Given the description of an element on the screen output the (x, y) to click on. 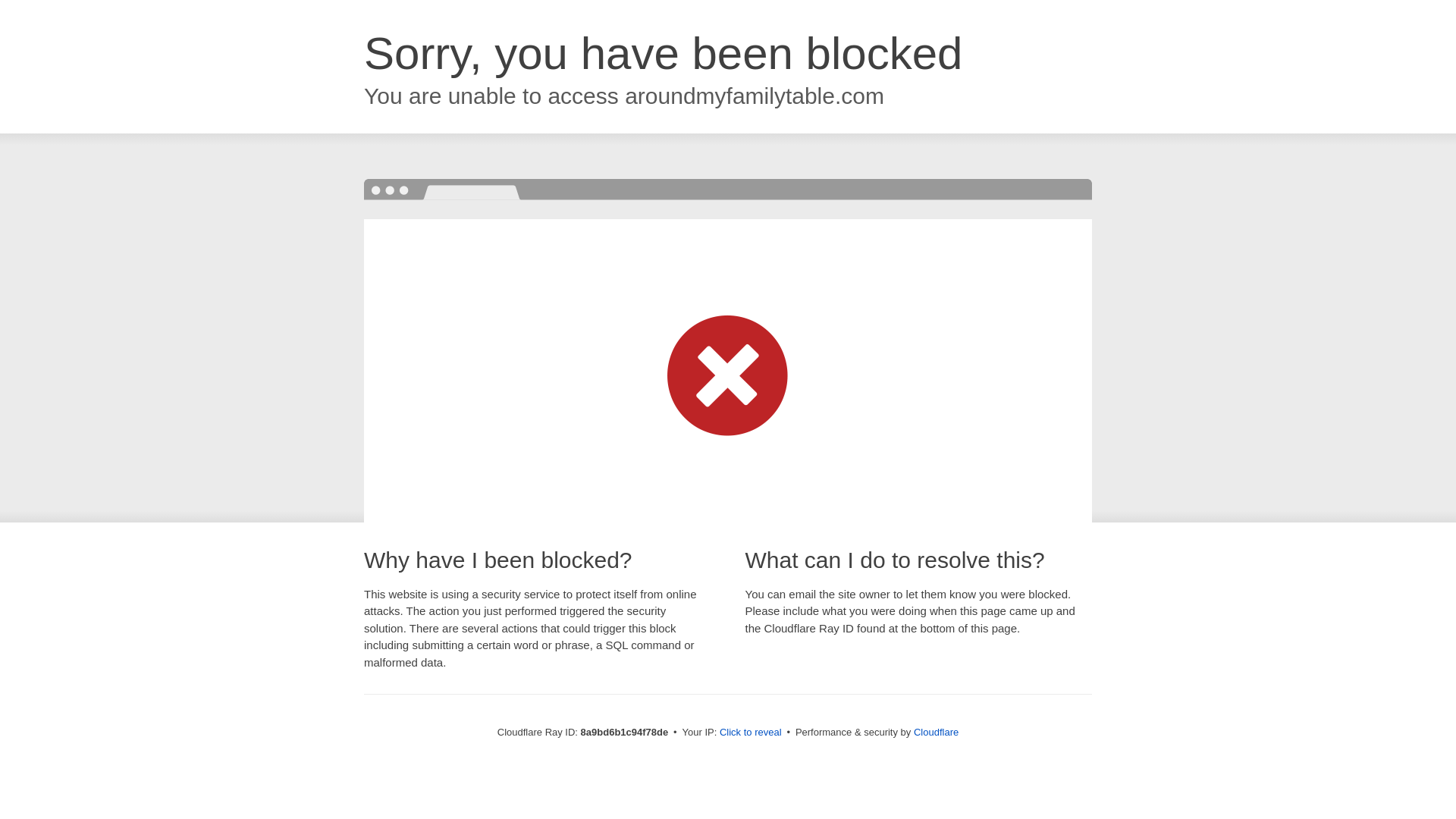
Click to reveal (750, 732)
Cloudflare (936, 731)
